Given the description of an element on the screen output the (x, y) to click on. 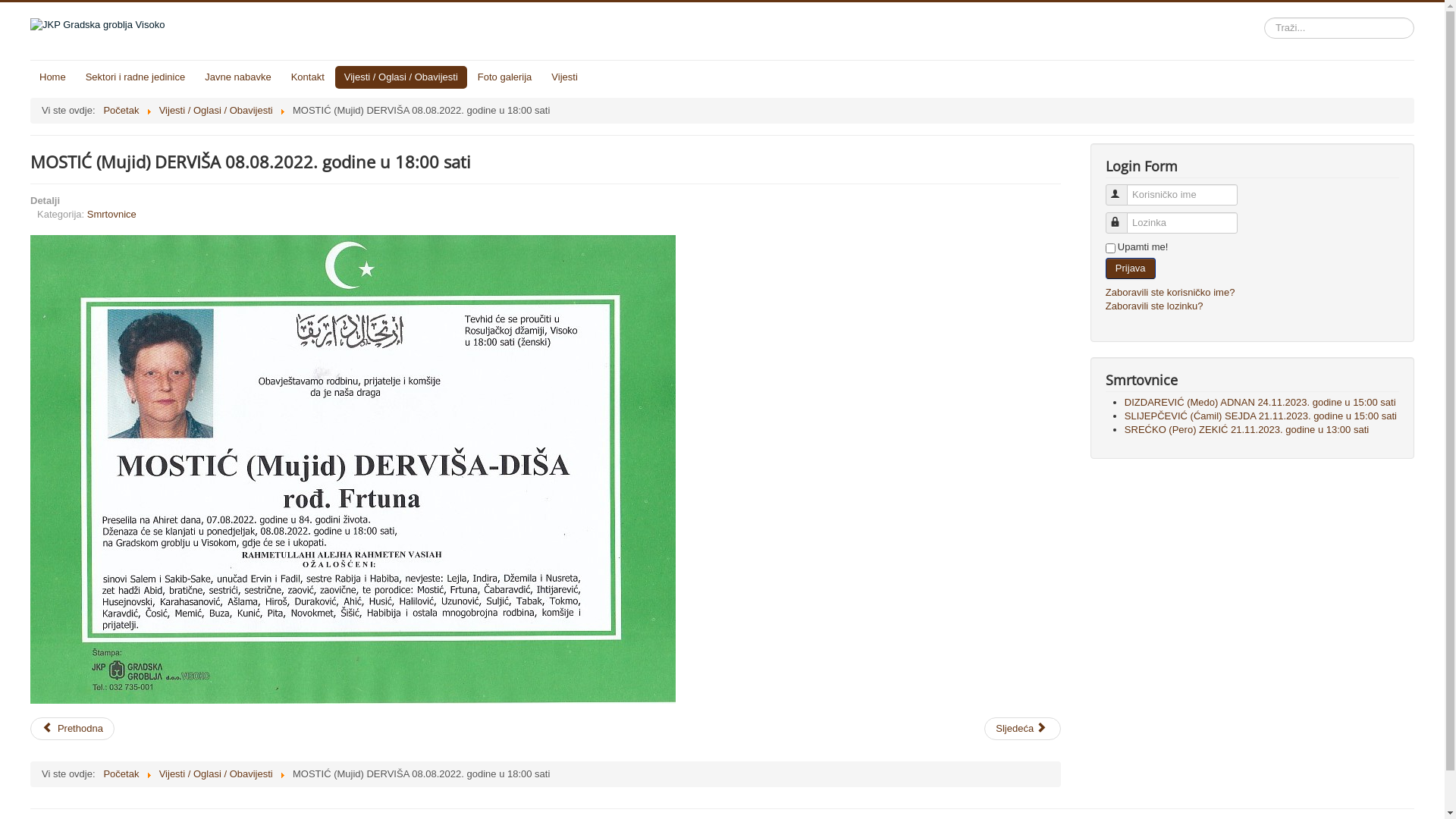
Vijesti / Oglasi / Obavijesti Element type: text (216, 773)
Home Element type: text (52, 76)
Sektori i radne jedinice Element type: text (135, 76)
Foto galerija Element type: text (504, 76)
Javne nabavke Element type: text (237, 76)
Prethodna Element type: text (72, 728)
Kontakt Element type: text (307, 76)
Vijesti / Oglasi / Obavijesti Element type: text (401, 76)
Vijesti / Oglasi / Obavijesti Element type: text (216, 110)
Prijava Element type: text (1130, 268)
Vijesti Element type: text (564, 76)
Smrtovnice Element type: text (111, 213)
Zaboravili ste lozinku? Element type: text (1154, 305)
